Given the description of an element on the screen output the (x, y) to click on. 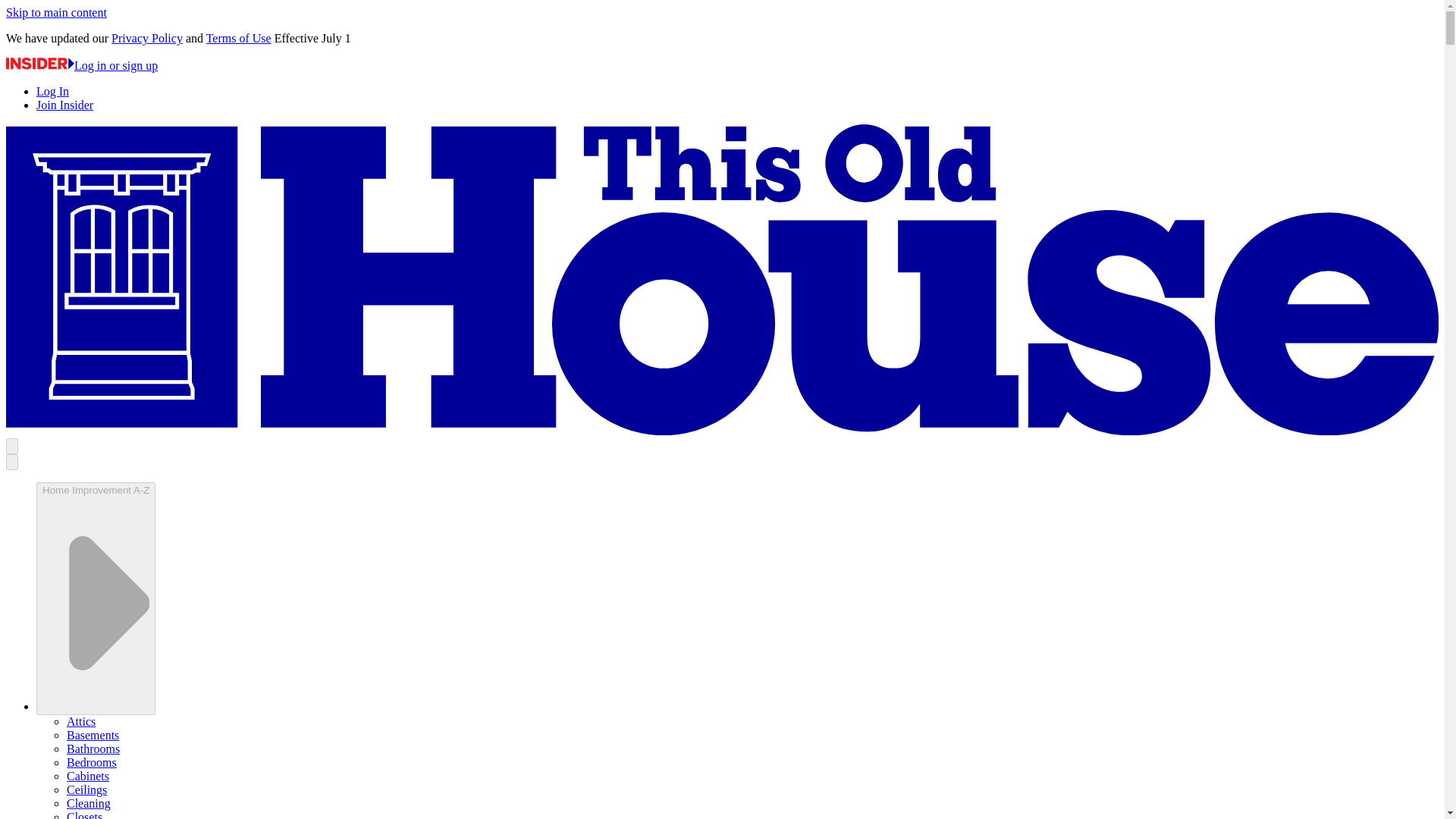
Closets (83, 814)
Log in or sign up (81, 65)
Privacy Policy (147, 38)
Cleaning (88, 802)
Cabinets (87, 775)
Bedrooms (91, 762)
Skip to main content (55, 11)
Terms of Use (238, 38)
Ceilings (86, 789)
Join Insider (64, 104)
